Given the description of an element on the screen output the (x, y) to click on. 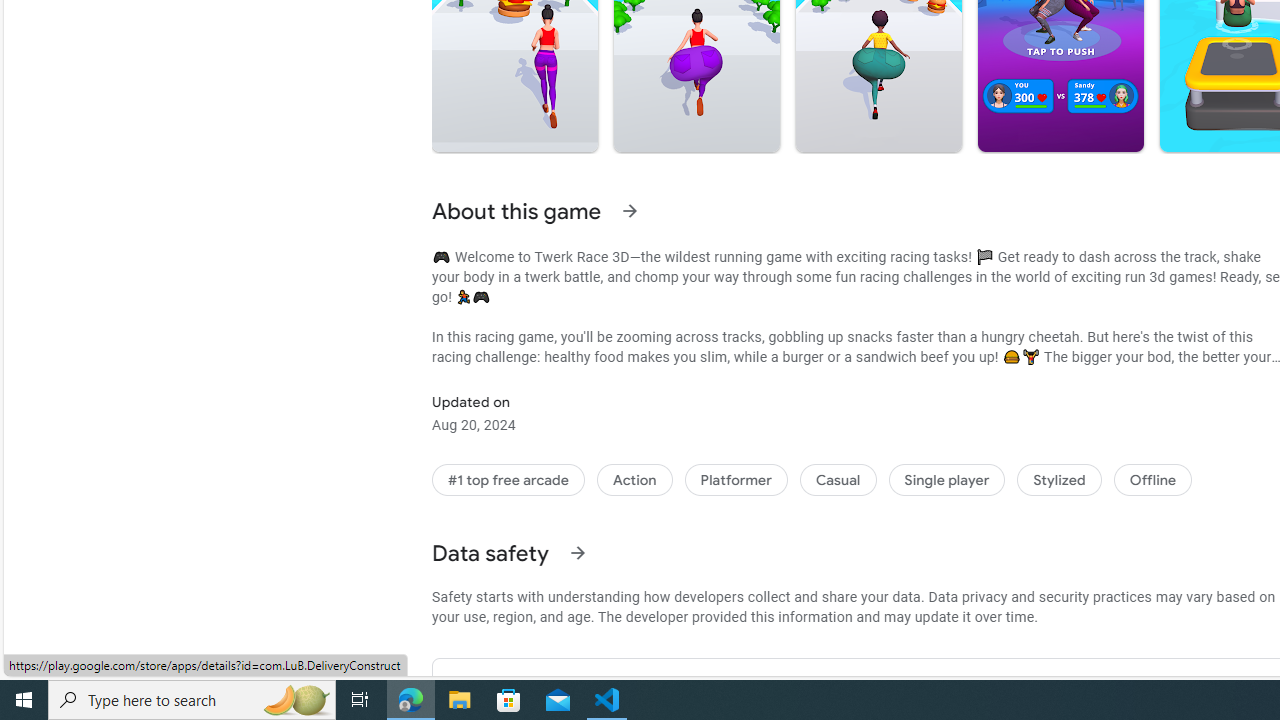
See more information on Data safety (576, 552)
Single player (946, 480)
Action (634, 480)
Offline (1152, 480)
Casual (837, 480)
Stylized (1059, 480)
Platformer (735, 480)
See more information on About this game (629, 210)
#1 top free arcade (507, 479)
